Given the description of an element on the screen output the (x, y) to click on. 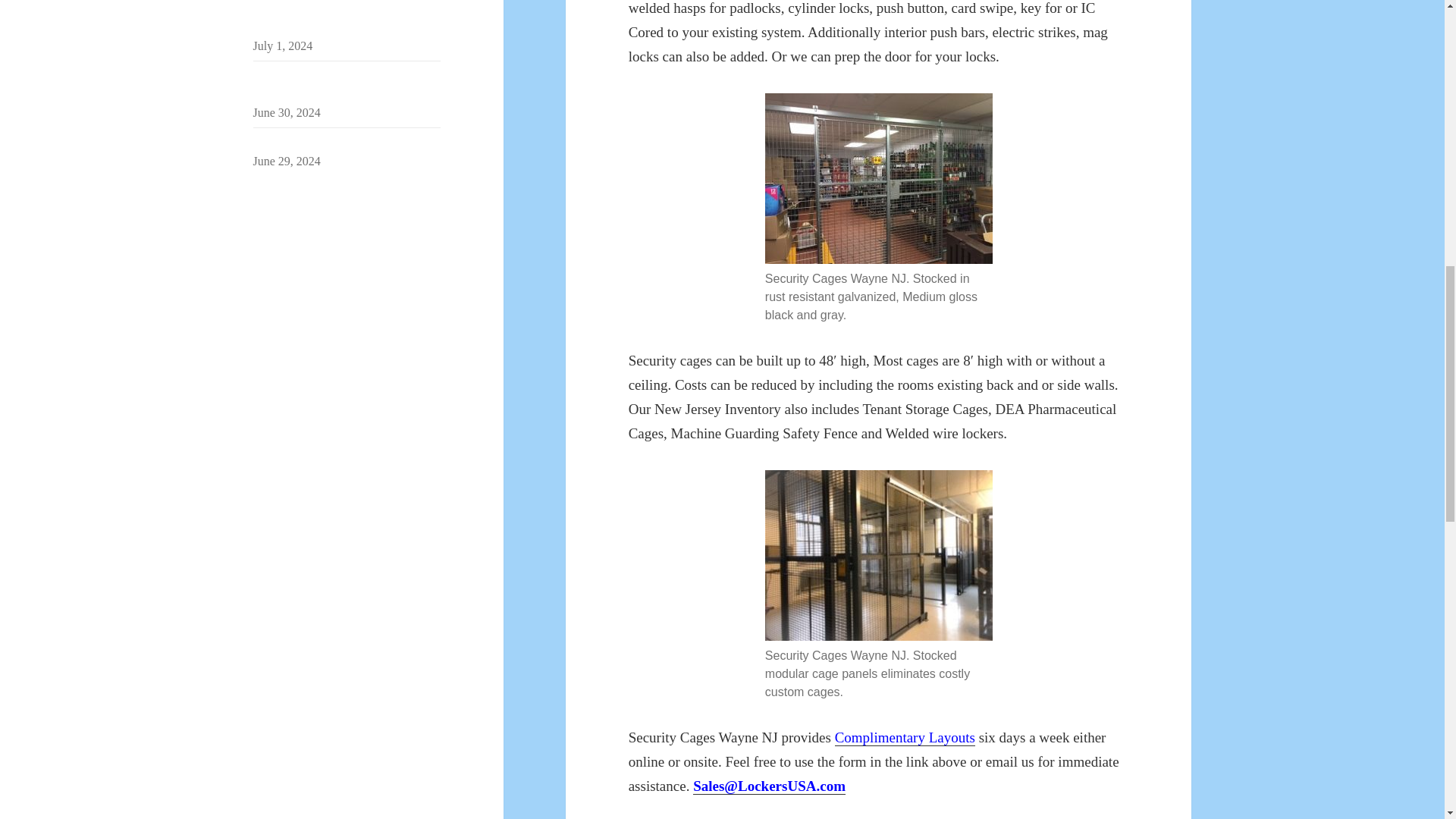
Complimentary Layouts (904, 737)
Security Storage Cages Monmouth County (338, 84)
Security Storage Cages Middlesex County (336, 18)
Security Storage Cages Ocean County (346, 142)
